Given the description of an element on the screen output the (x, y) to click on. 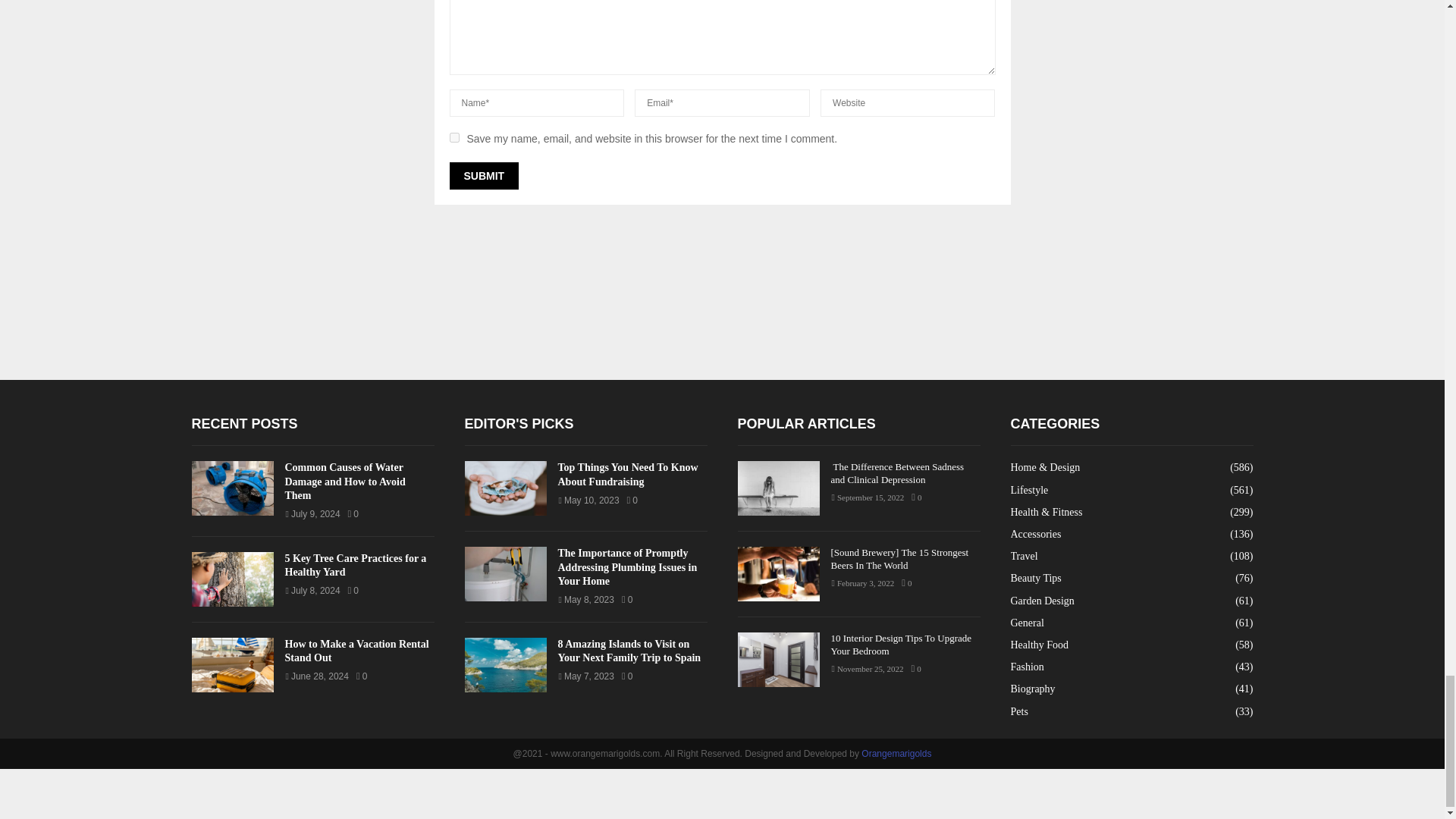
yes (453, 137)
Submit (483, 175)
